Given the description of an element on the screen output the (x, y) to click on. 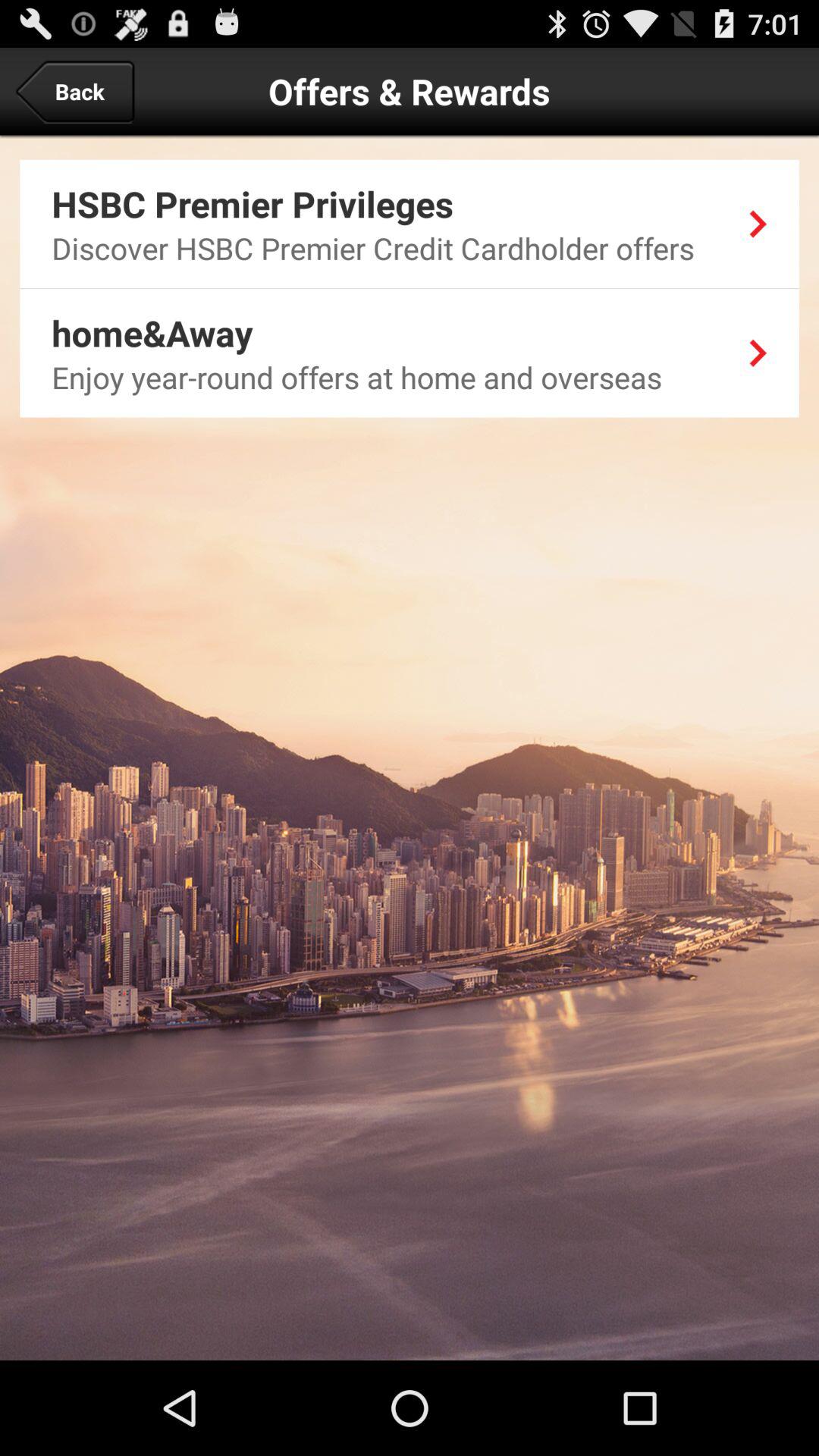
flip until the back icon (73, 91)
